Given the description of an element on the screen output the (x, y) to click on. 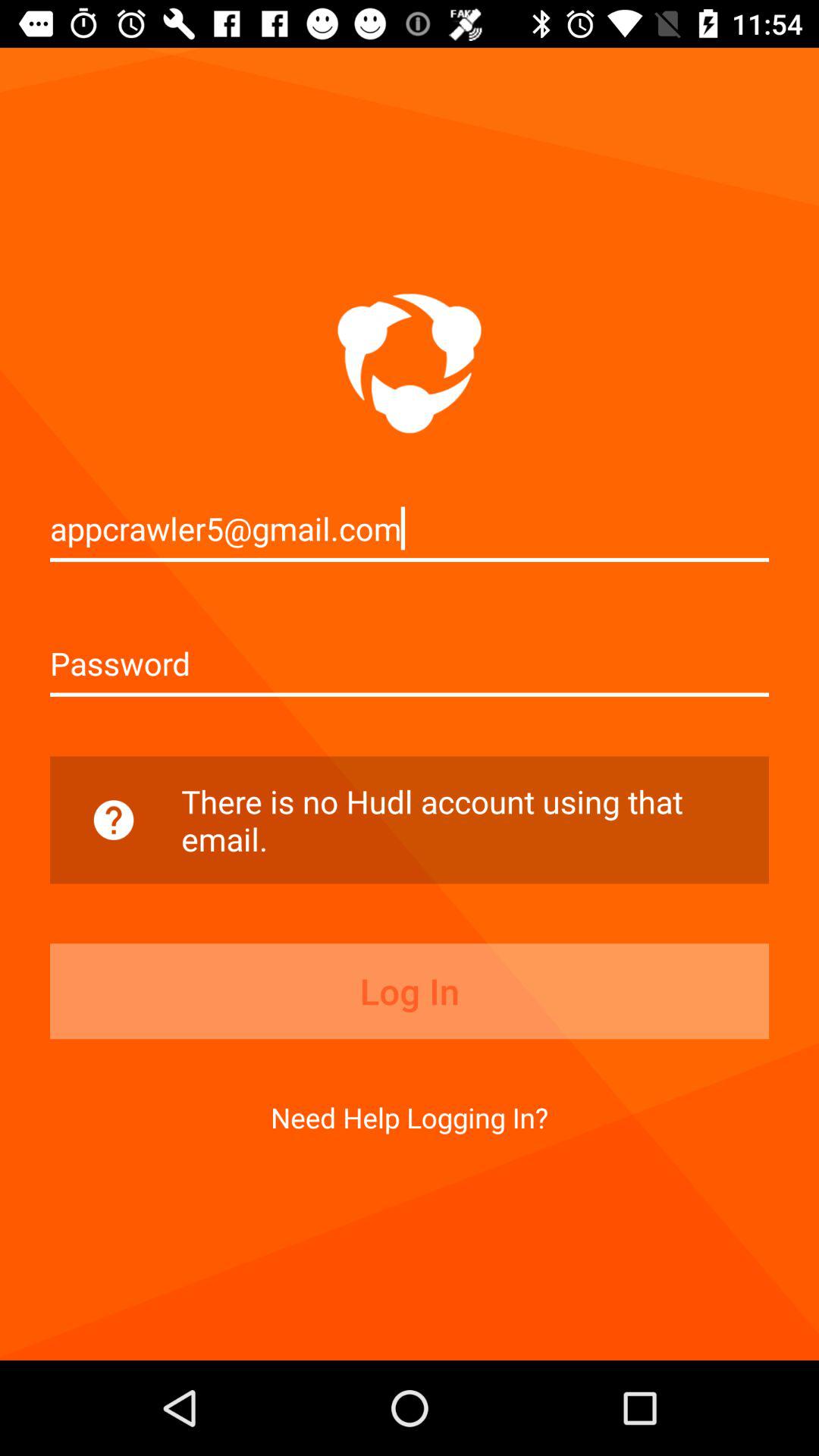
swipe until the log in item (409, 991)
